Given the description of an element on the screen output the (x, y) to click on. 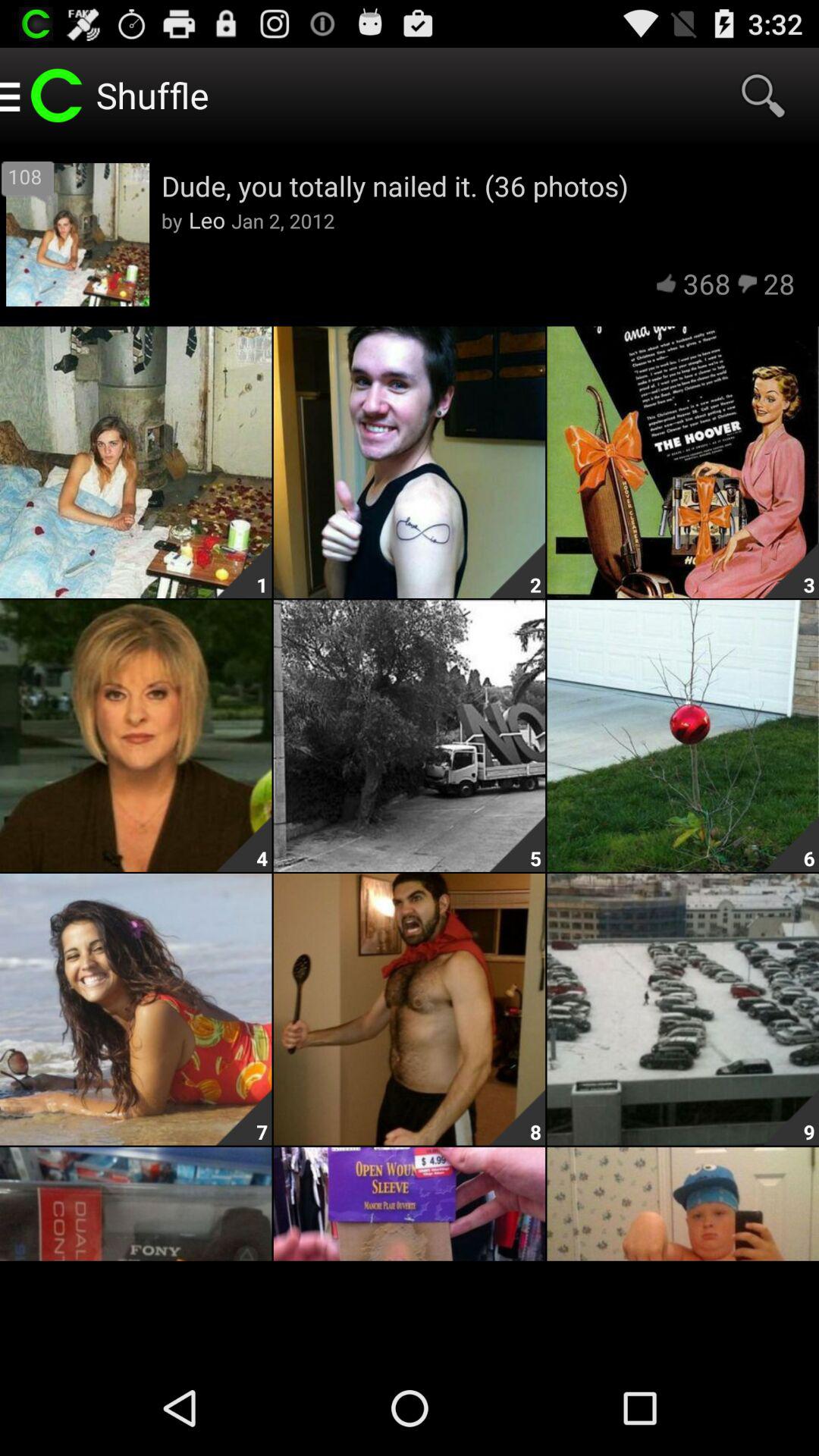
open app to the right of shuffle (763, 95)
